Given the description of an element on the screen output the (x, y) to click on. 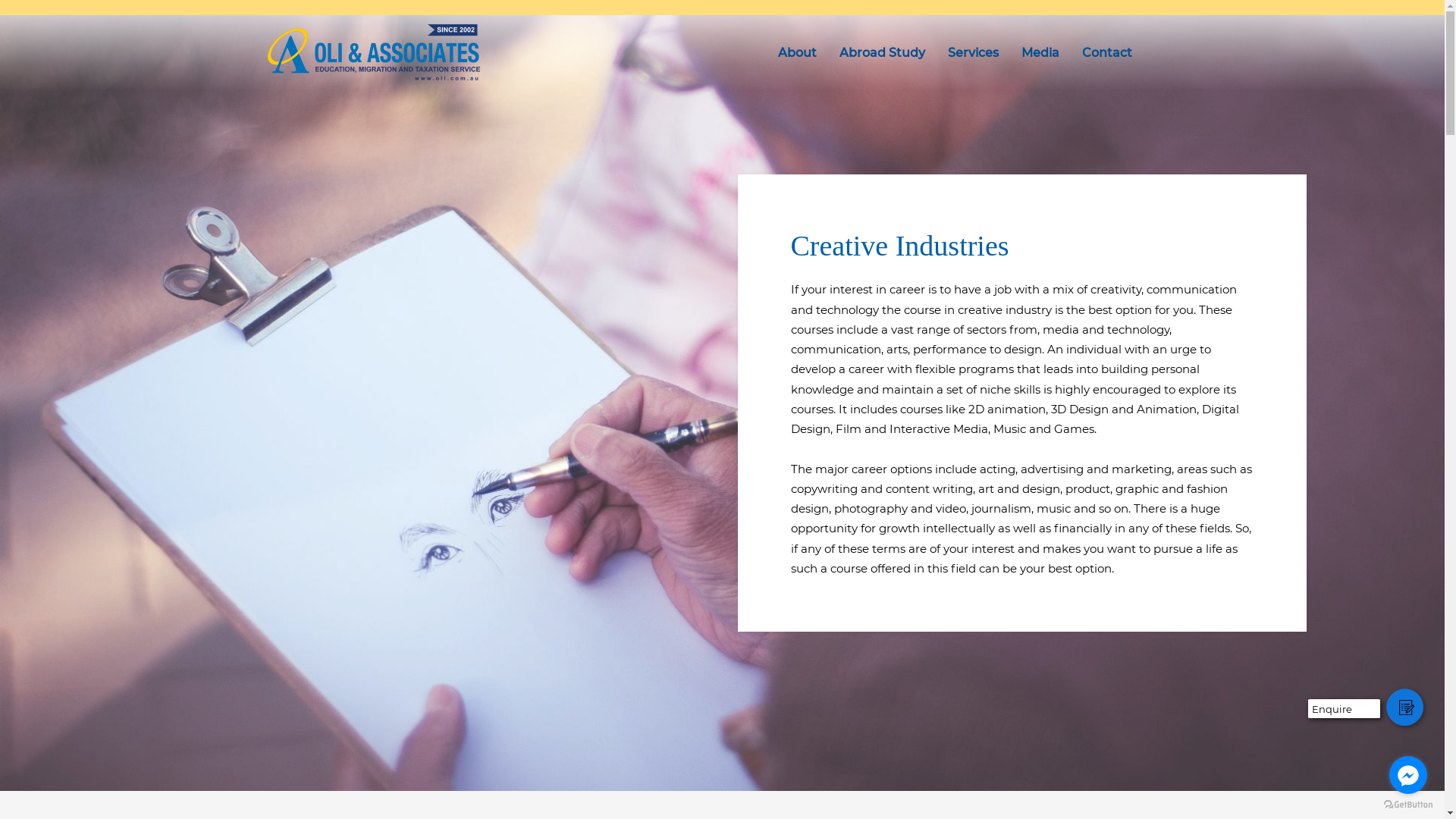
Services Element type: text (972, 53)
Contact Element type: text (1106, 53)
About Element type: text (796, 53)
Abroad Study Element type: text (882, 53)
Media Element type: text (1040, 53)
